Given the description of an element on the screen output the (x, y) to click on. 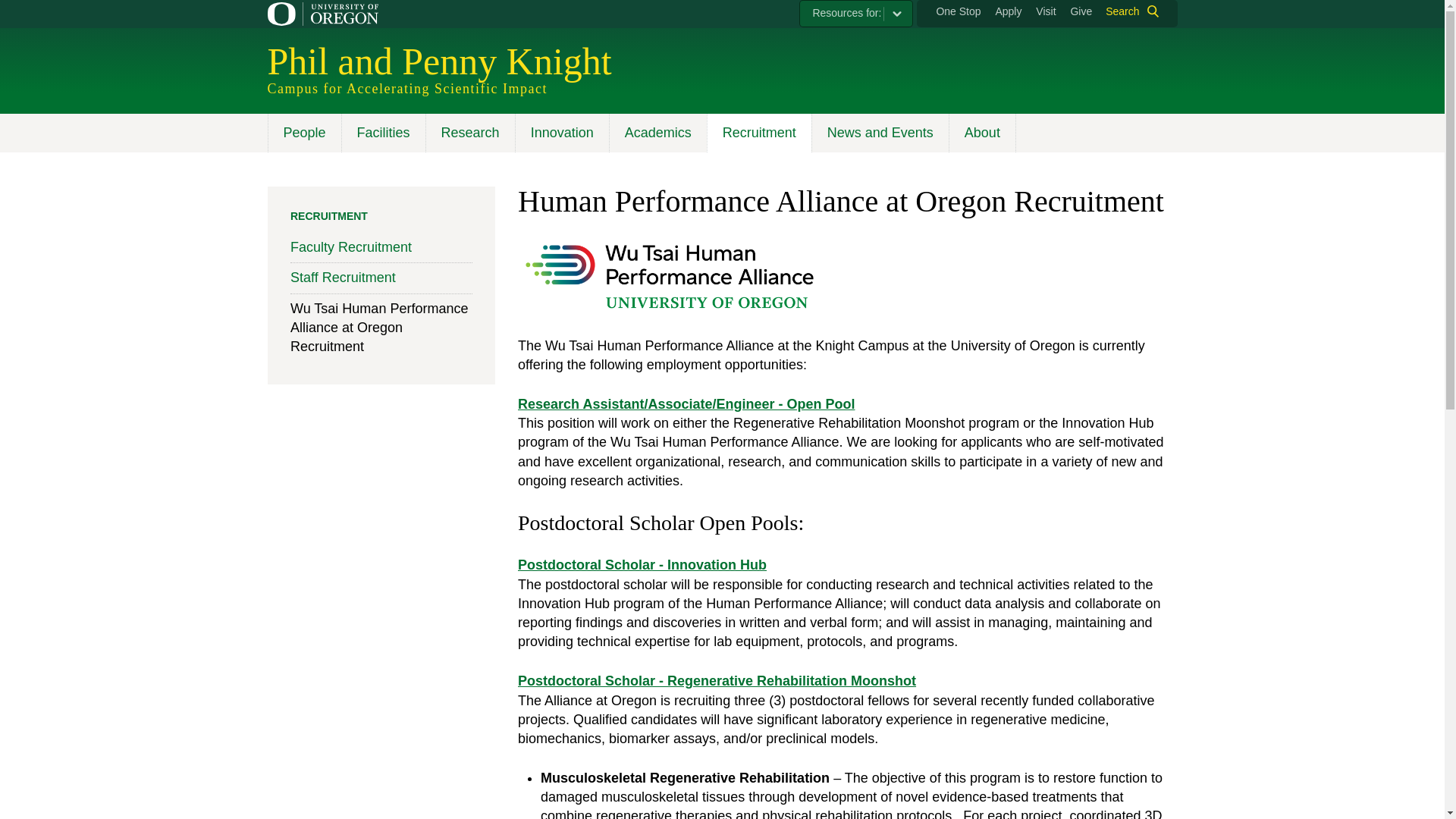
One Stop (957, 10)
Phil and Penny Knight (438, 61)
Academics (657, 132)
Research (470, 132)
Phil and Penny KnightHome (438, 61)
Resources for: (855, 13)
Recruitment (758, 132)
Search (1128, 11)
Facilities (382, 132)
About (982, 132)
